Given the description of an element on the screen output the (x, y) to click on. 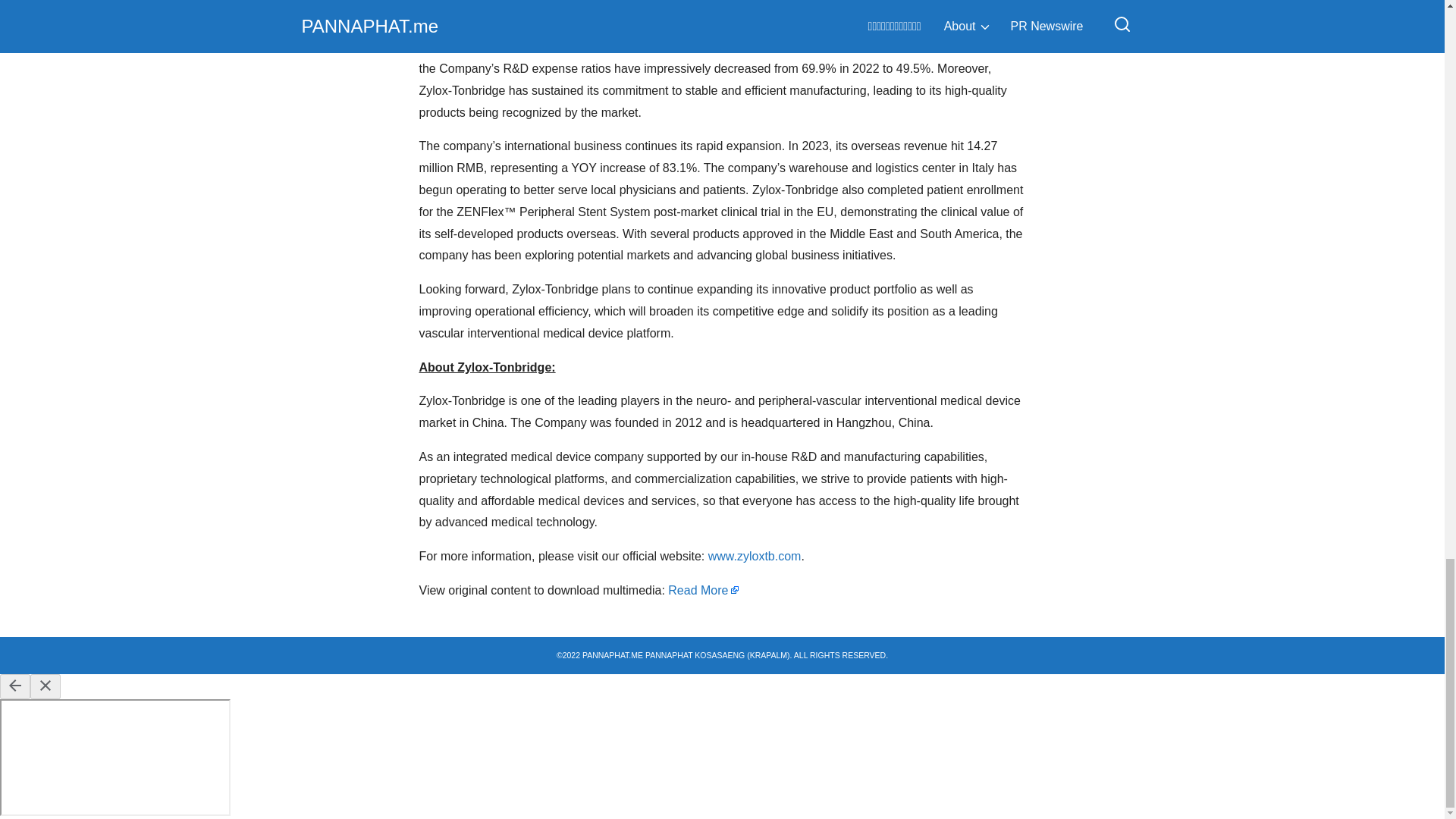
Read More (703, 590)
www.zyloxtb.com (754, 555)
